Given the description of an element on the screen output the (x, y) to click on. 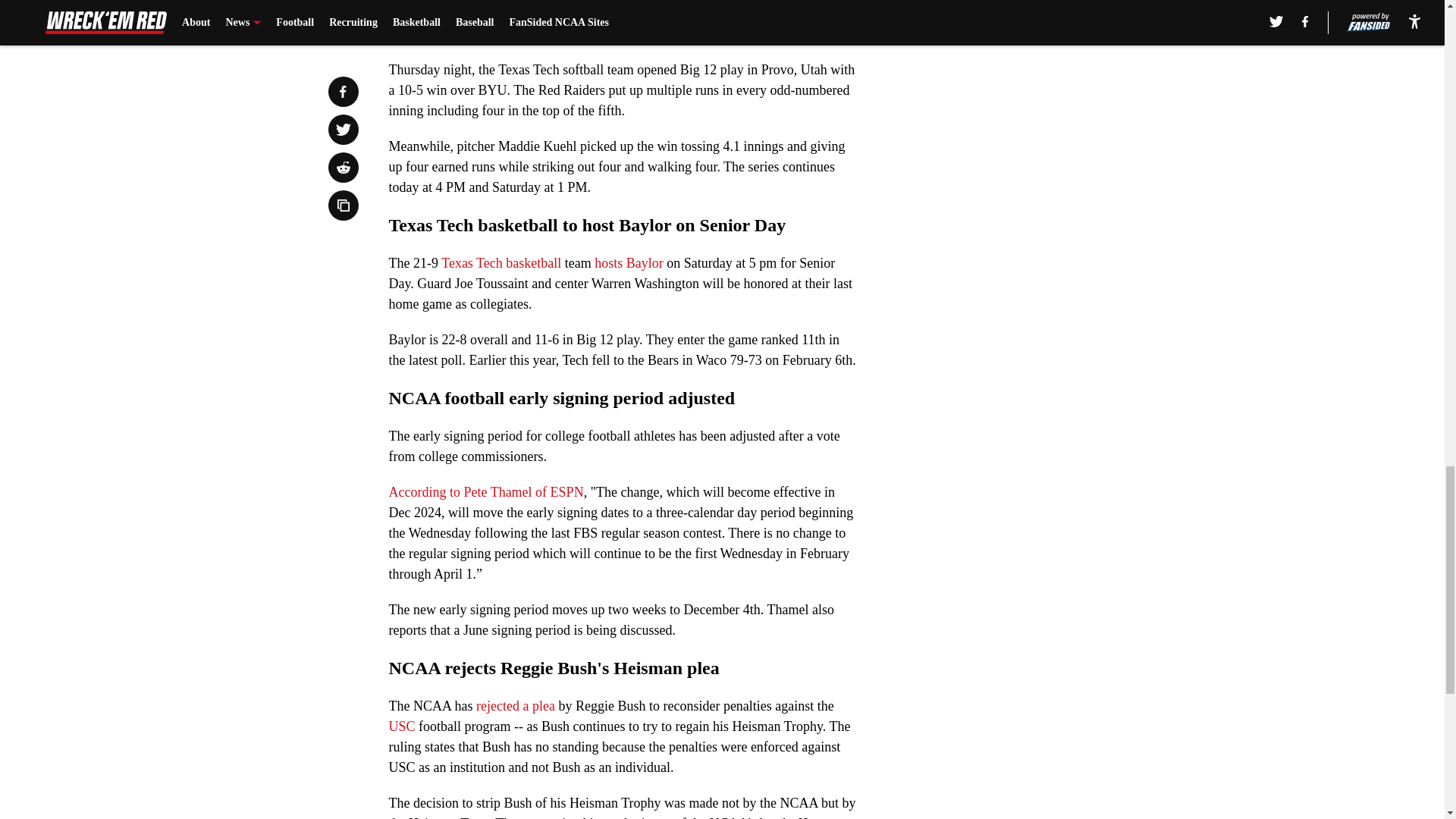
hosts Baylor (628, 263)
USC (401, 726)
Texas Tech basketball (502, 263)
According to Pete Thamel of ESPN (485, 491)
rejected a plea (515, 705)
